Given the description of an element on the screen output the (x, y) to click on. 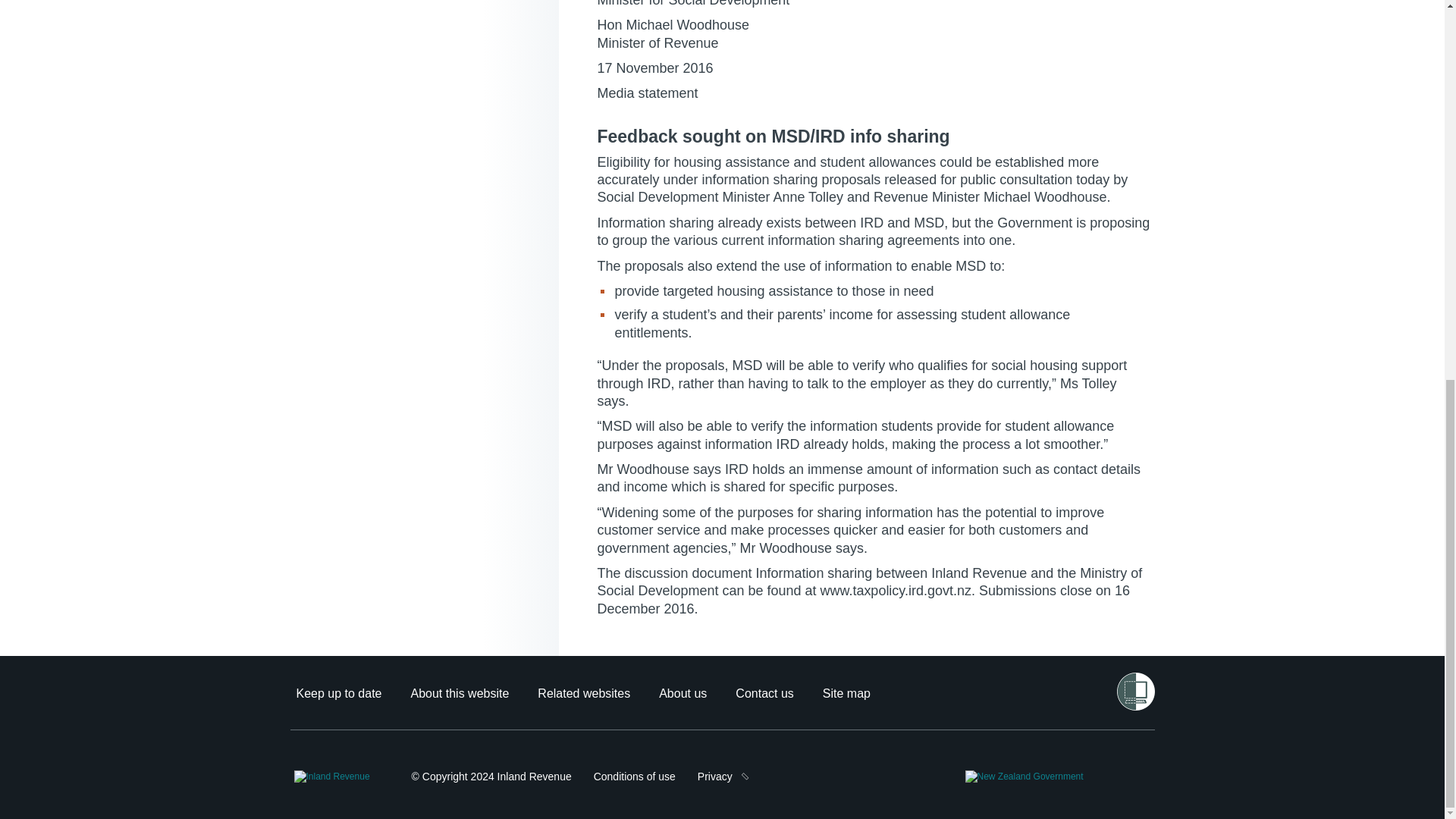
Related websites (583, 693)
About us (682, 693)
Keep up to date (338, 693)
Copyright policy (492, 776)
About us (682, 693)
Keep up to date (338, 693)
Site map (846, 693)
About this website (459, 693)
Contact us (764, 693)
About this website (459, 693)
Privacy (714, 776)
Conditions of use (634, 776)
Related websites (583, 693)
Contact us (764, 693)
Site map (846, 693)
